Given the description of an element on the screen output the (x, y) to click on. 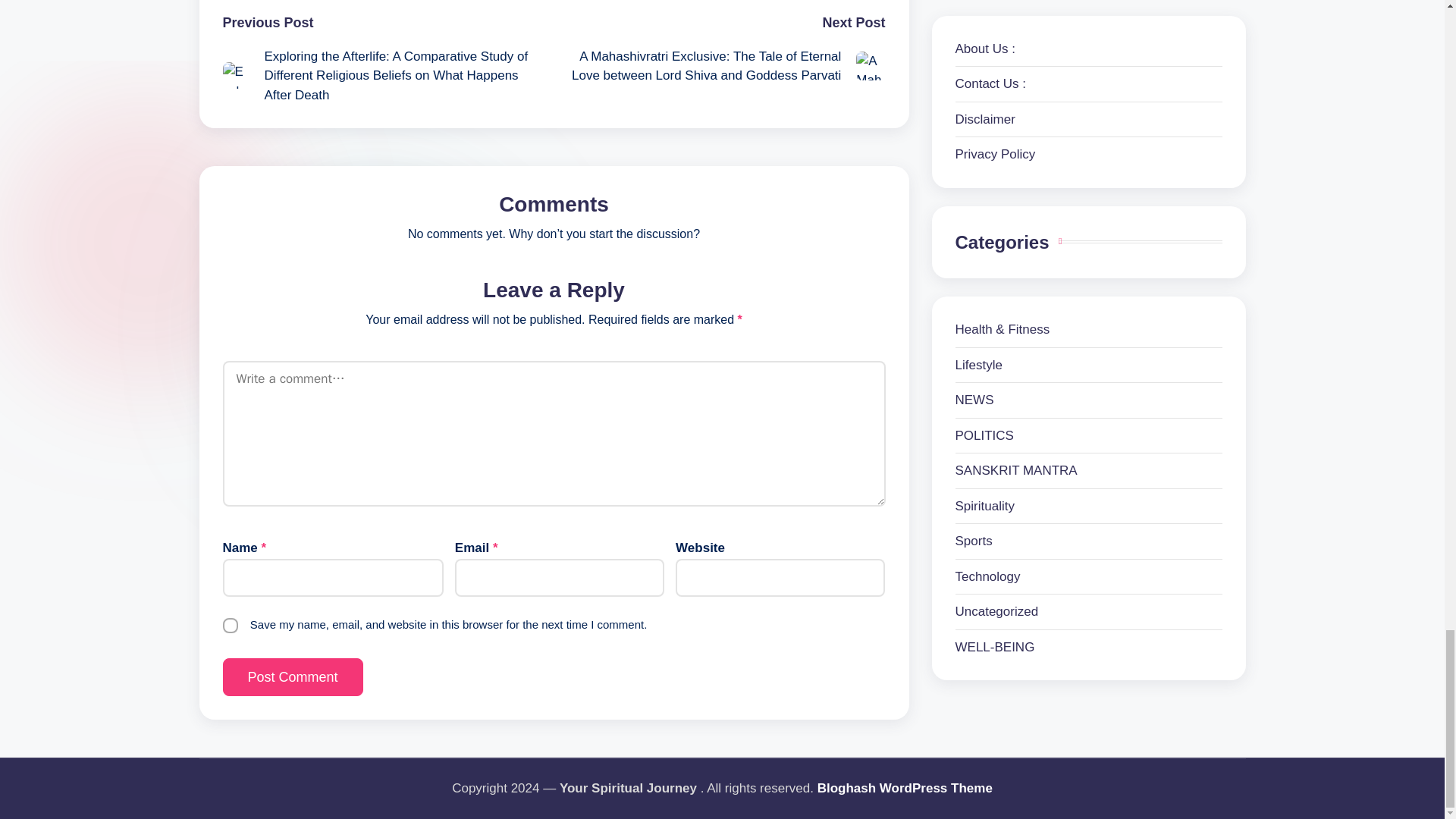
yes (230, 625)
Post Comment (292, 677)
Post Comment (292, 677)
Bloghash WordPress Theme (904, 788)
